Given the description of an element on the screen output the (x, y) to click on. 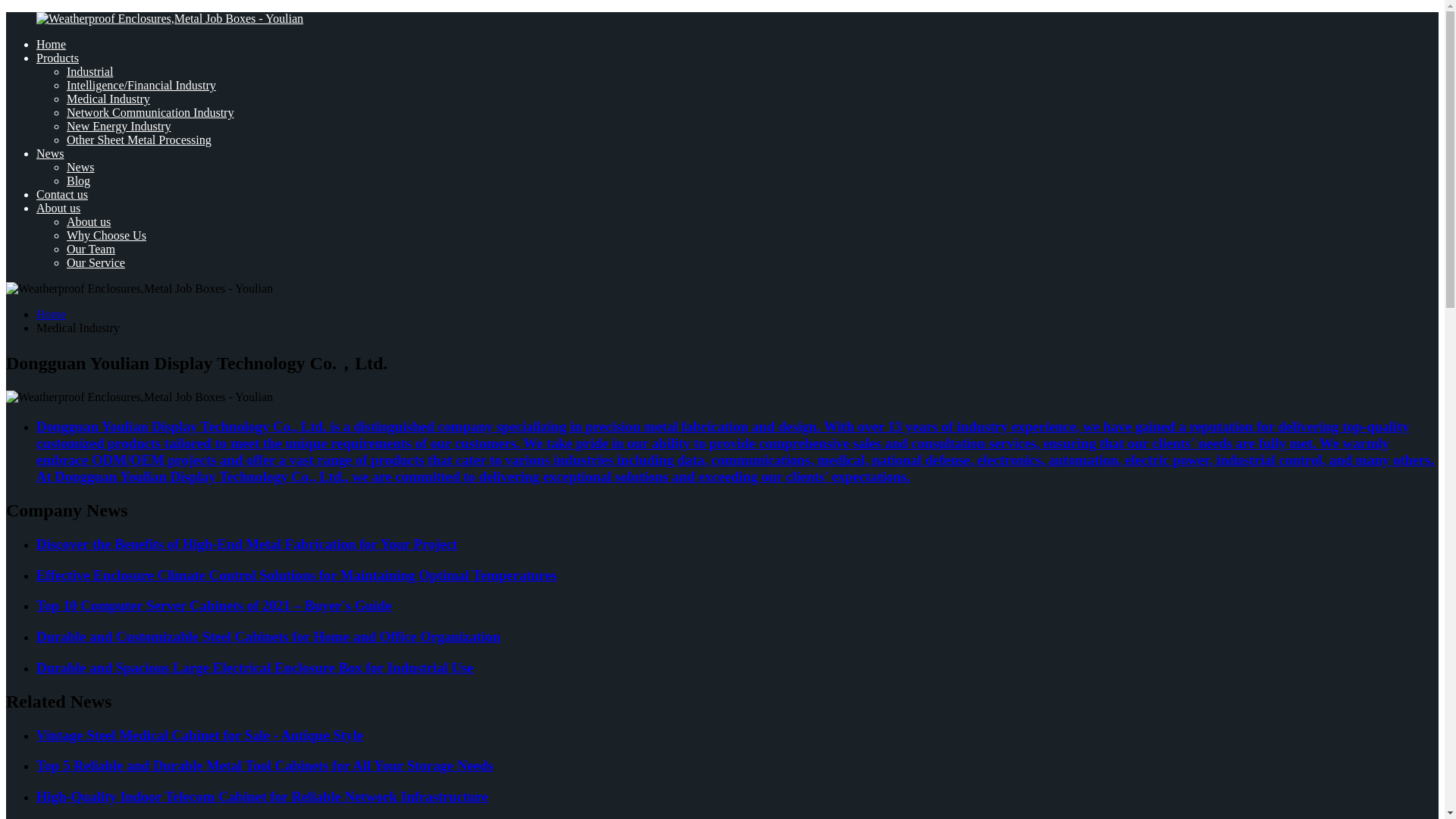
Blog (78, 180)
Contact us (61, 194)
Network Communication Industry (149, 112)
Our Service (95, 262)
Why Choose Us (106, 235)
Industrial (89, 71)
News (50, 153)
Medical Industry (107, 98)
About us (88, 221)
About us (58, 207)
Home (50, 43)
Home (50, 314)
Other Sheet Metal Processing (138, 139)
News (80, 166)
Products (57, 57)
